Given the description of an element on the screen output the (x, y) to click on. 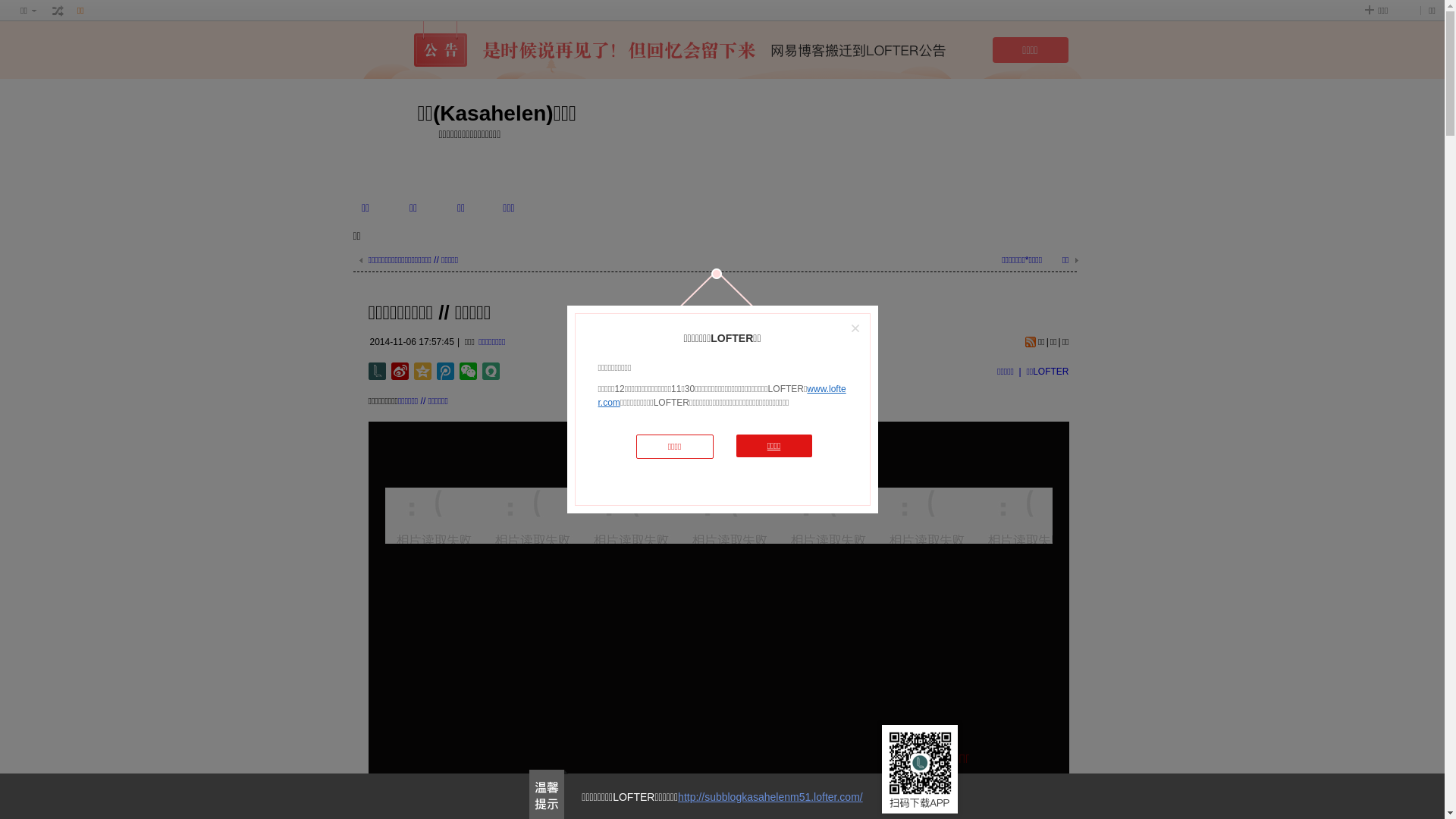
http://subblogkasahelenm51.lofter.com/ Element type: text (769, 796)
www.lofter.com Element type: text (721, 395)
http://chinasanwenjiaxh.blog.163.com/ Element type: text (594, 760)
  Element type: text (58, 10)
